Given the description of an element on the screen output the (x, y) to click on. 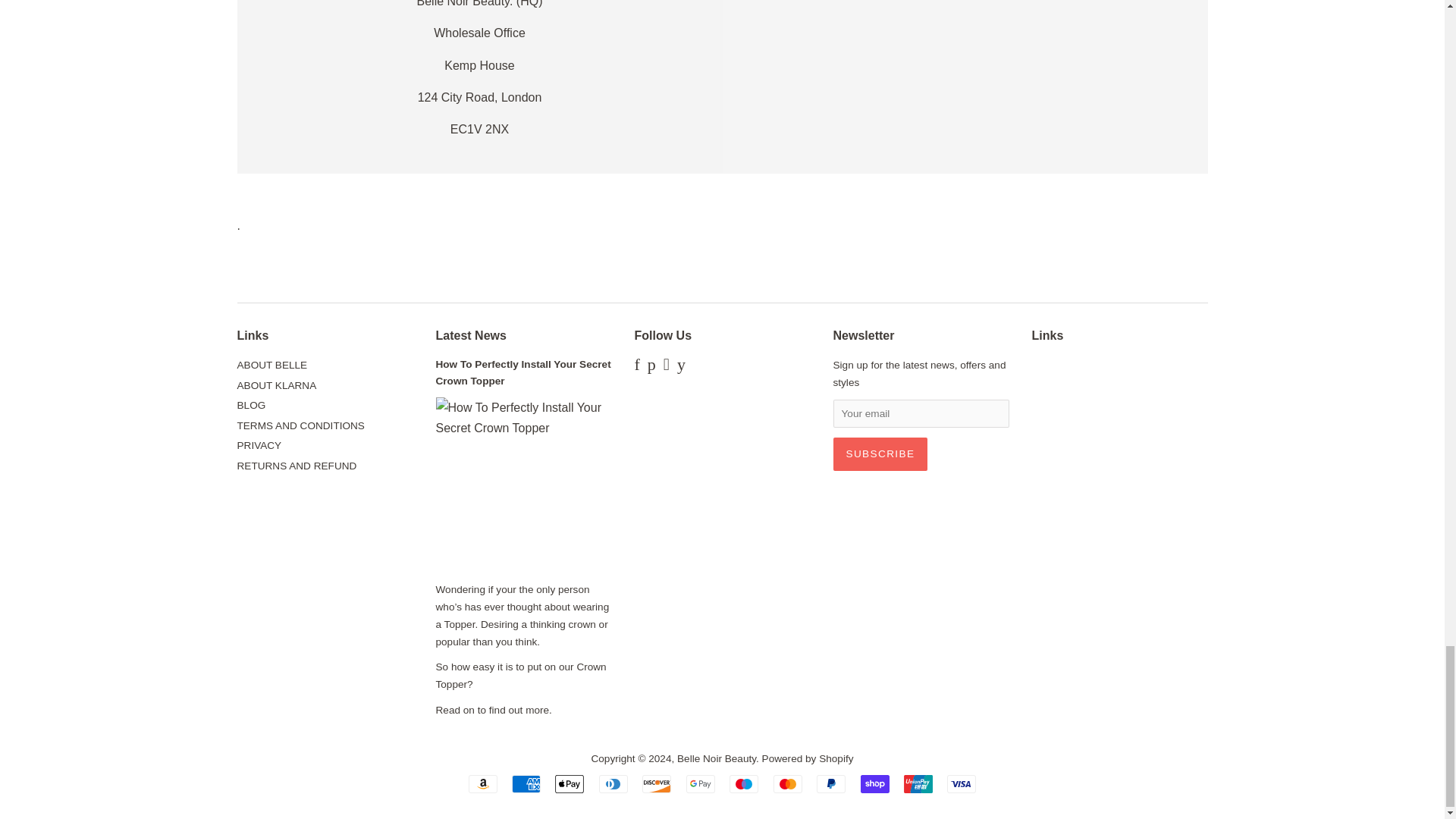
Amazon (482, 783)
Belle Noir Beauty on Pinterest (651, 366)
Maestro (743, 783)
Belle Noir Beauty on Instagram (666, 366)
Discover (656, 783)
Belle Noir Beauty on Facebook (636, 366)
Union Pay (918, 783)
PayPal (830, 783)
American Express (526, 783)
Belle Noir Beauty on YouTube (681, 366)
Apple Pay (568, 783)
Visa (961, 783)
Subscribe (879, 453)
Mastercard (787, 783)
Diners Club (612, 783)
